Given the description of an element on the screen output the (x, y) to click on. 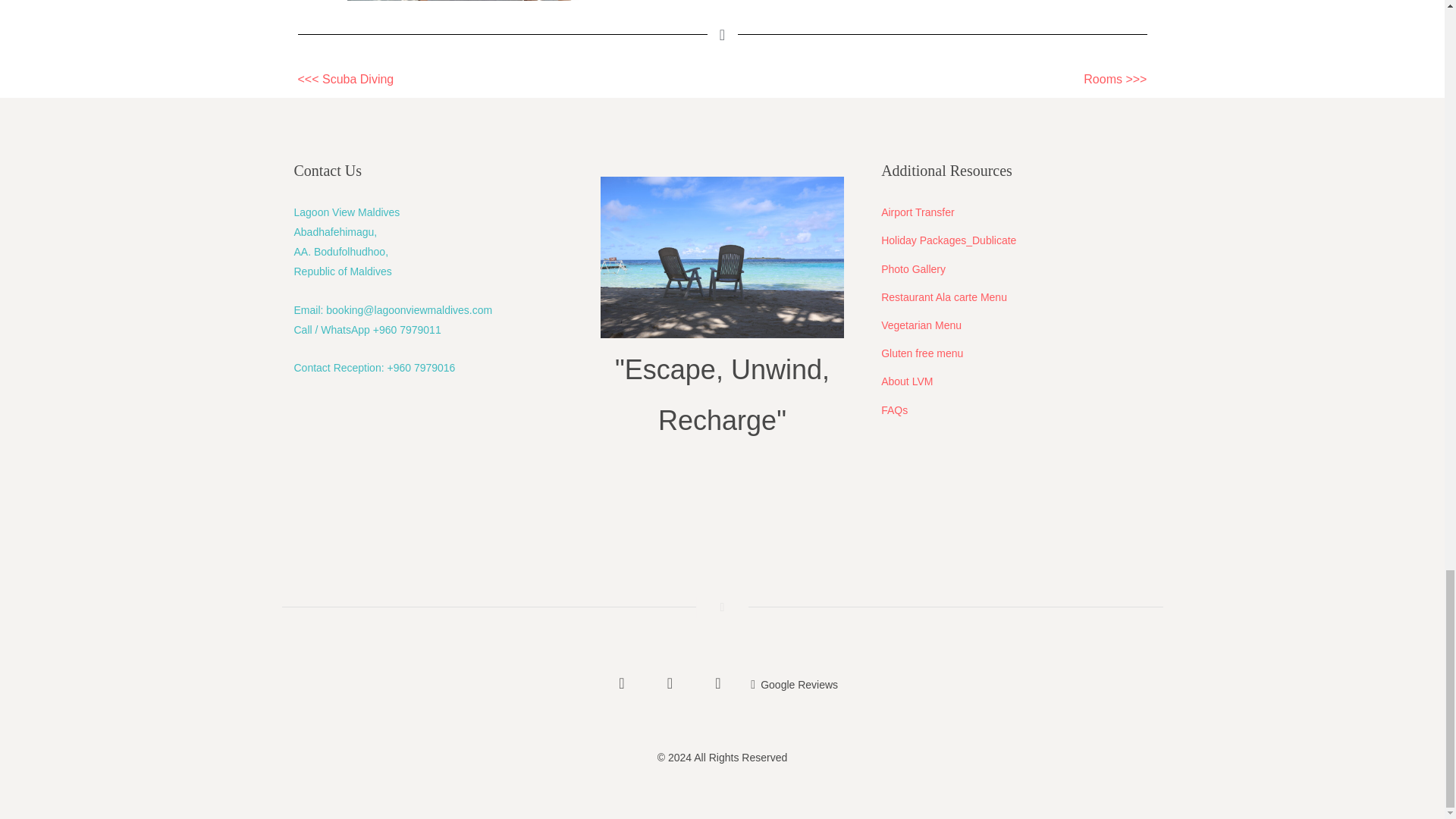
About LVM (906, 381)
Restaurant Ala carte Menu (943, 297)
Vegetarian Menu (920, 325)
Airport Transfer (916, 212)
Gluten free menu (921, 353)
Photo Gallery (912, 268)
FAQs (893, 410)
